Given the description of an element on the screen output the (x, y) to click on. 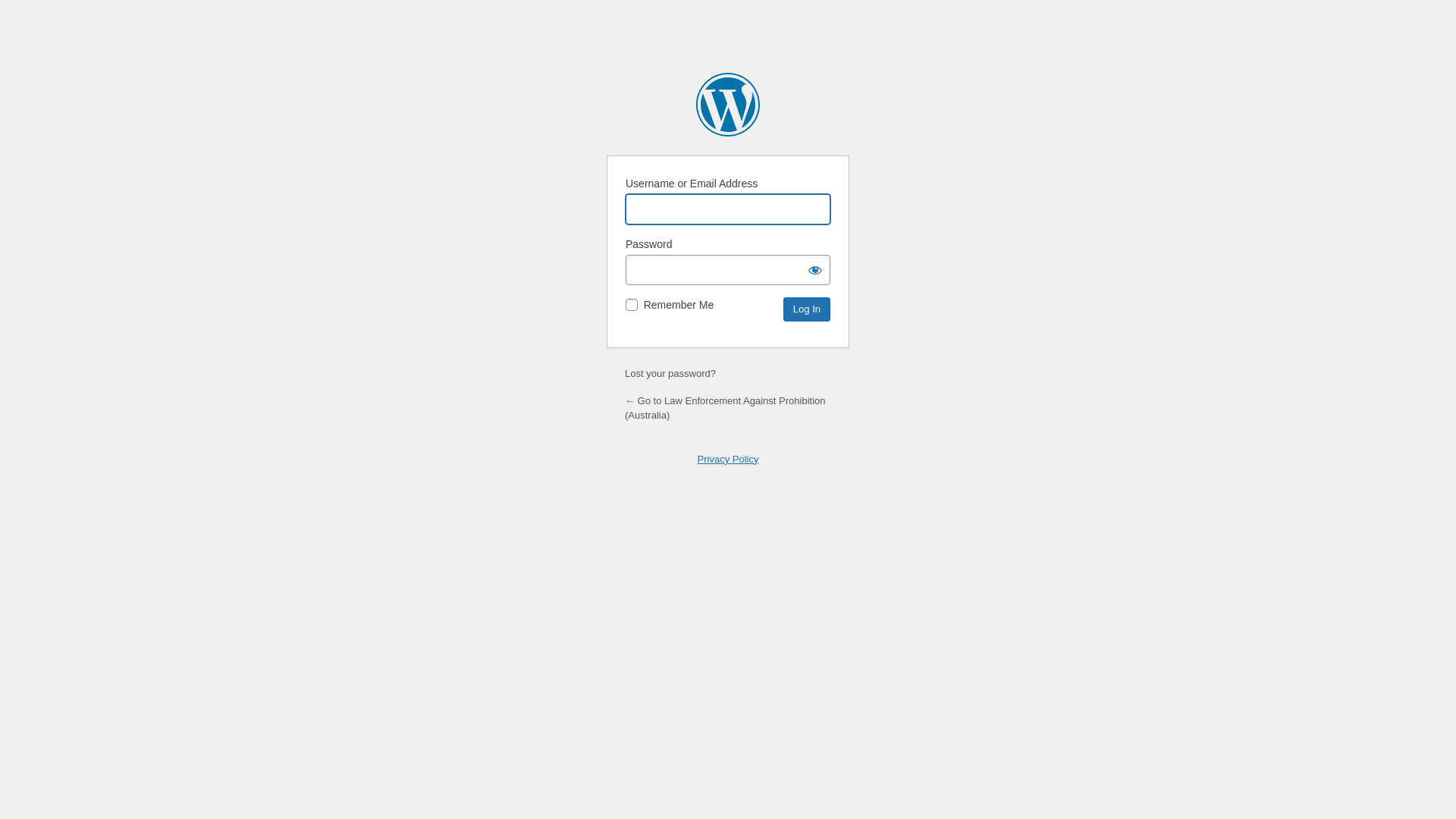
Lost your password? Element type: text (669, 373)
Log In Element type: text (806, 309)
Privacy Policy Element type: text (728, 458)
Powered by WordPress Element type: text (727, 104)
